Given the description of an element on the screen output the (x, y) to click on. 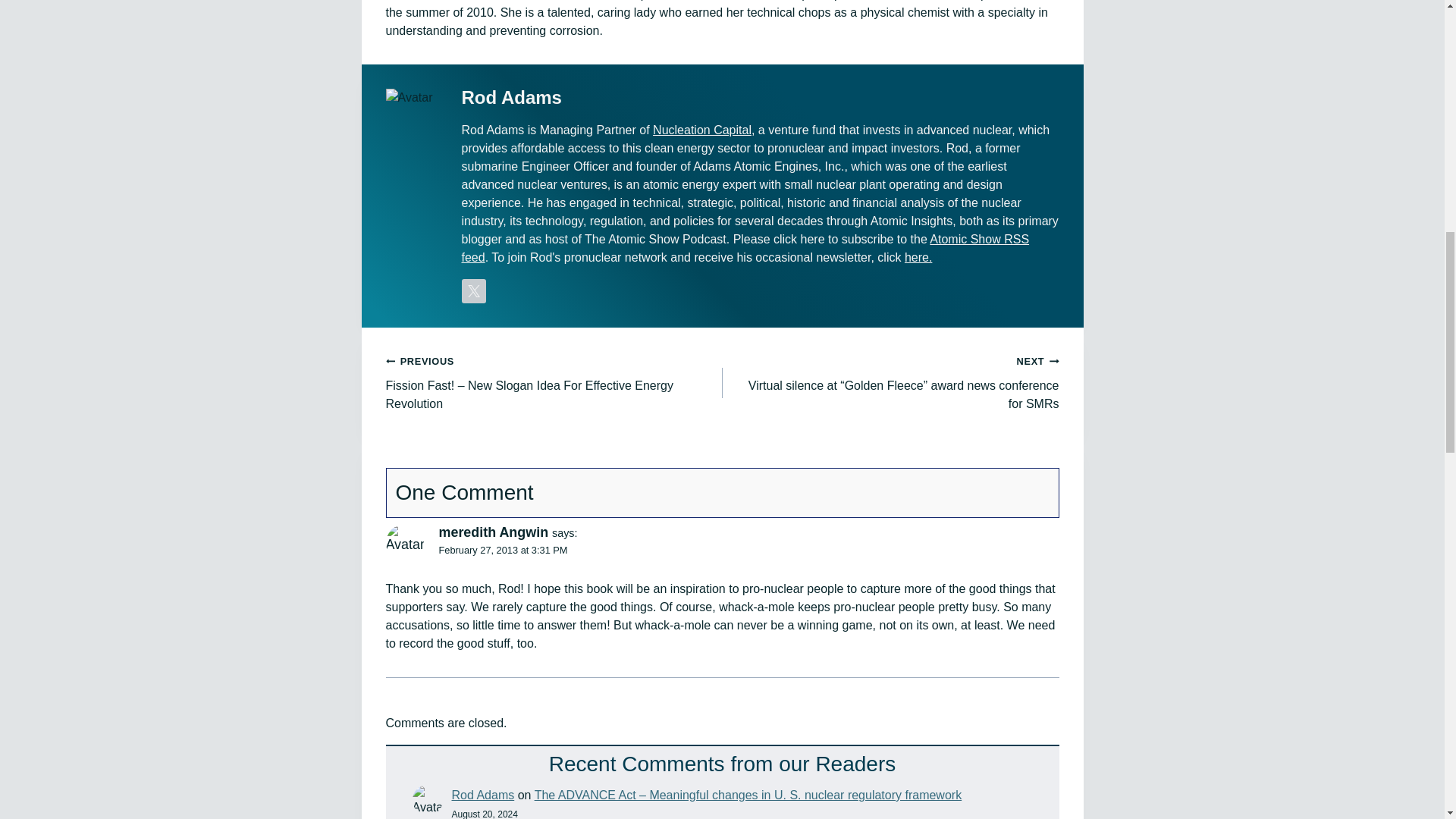
February 27, 2013 at 3:31 PM (502, 550)
Rod Adams (483, 794)
Follow Rod Adams on X formerly Twitter (472, 291)
Nucleation Capital (701, 129)
Atomic Show RSS feed (745, 247)
here. (917, 256)
